Given the description of an element on the screen output the (x, y) to click on. 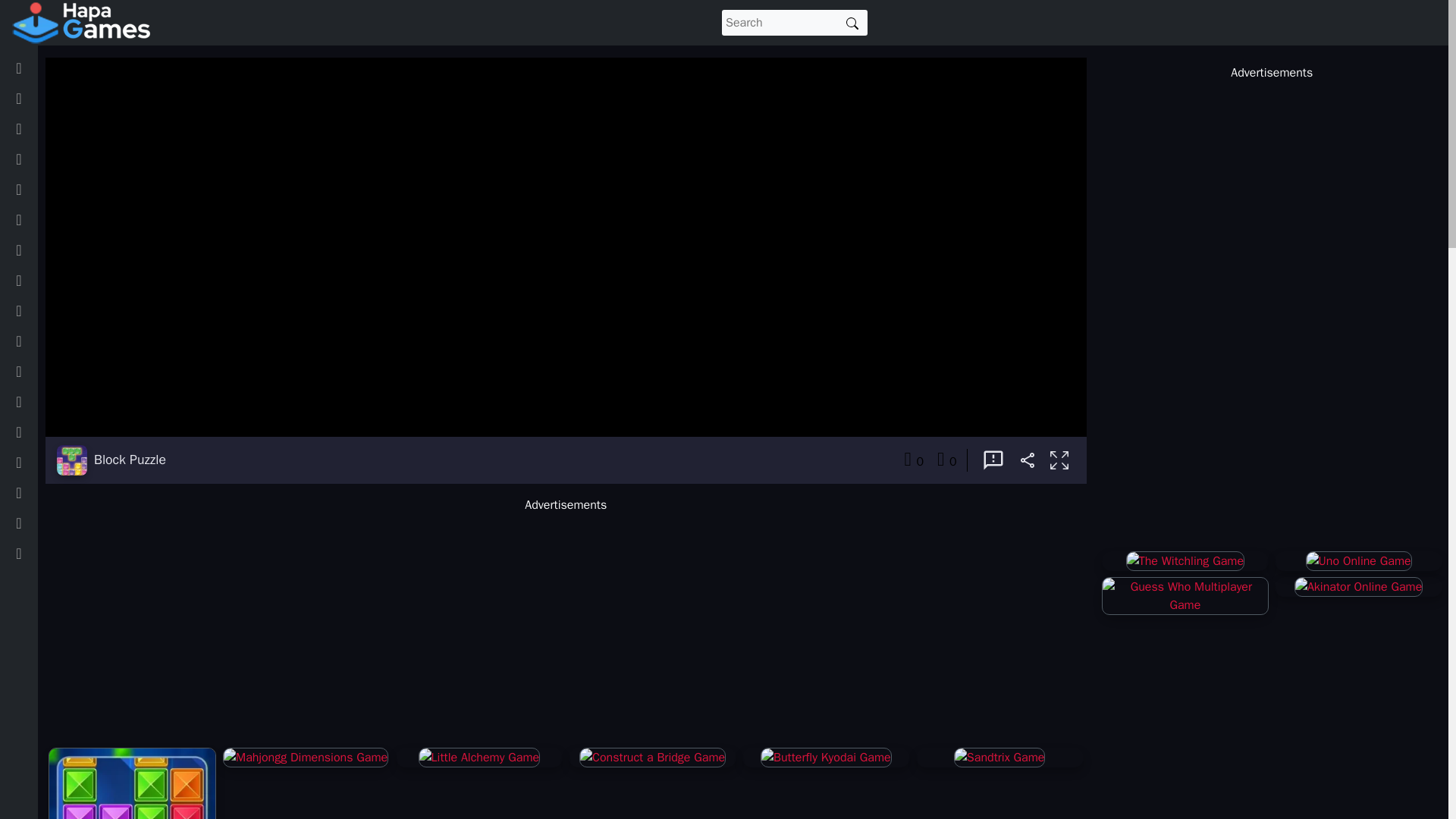
Report a bug (992, 459)
New Games (52, 98)
Driving (39, 280)
Home (37, 68)
0 (913, 459)
Fighting (41, 492)
Full Screen (1058, 460)
Casual (40, 250)
Trending Games (62, 128)
Racing (39, 431)
io (27, 310)
Sports (39, 401)
Board (37, 219)
Puzzle (38, 340)
